Given the description of an element on the screen output the (x, y) to click on. 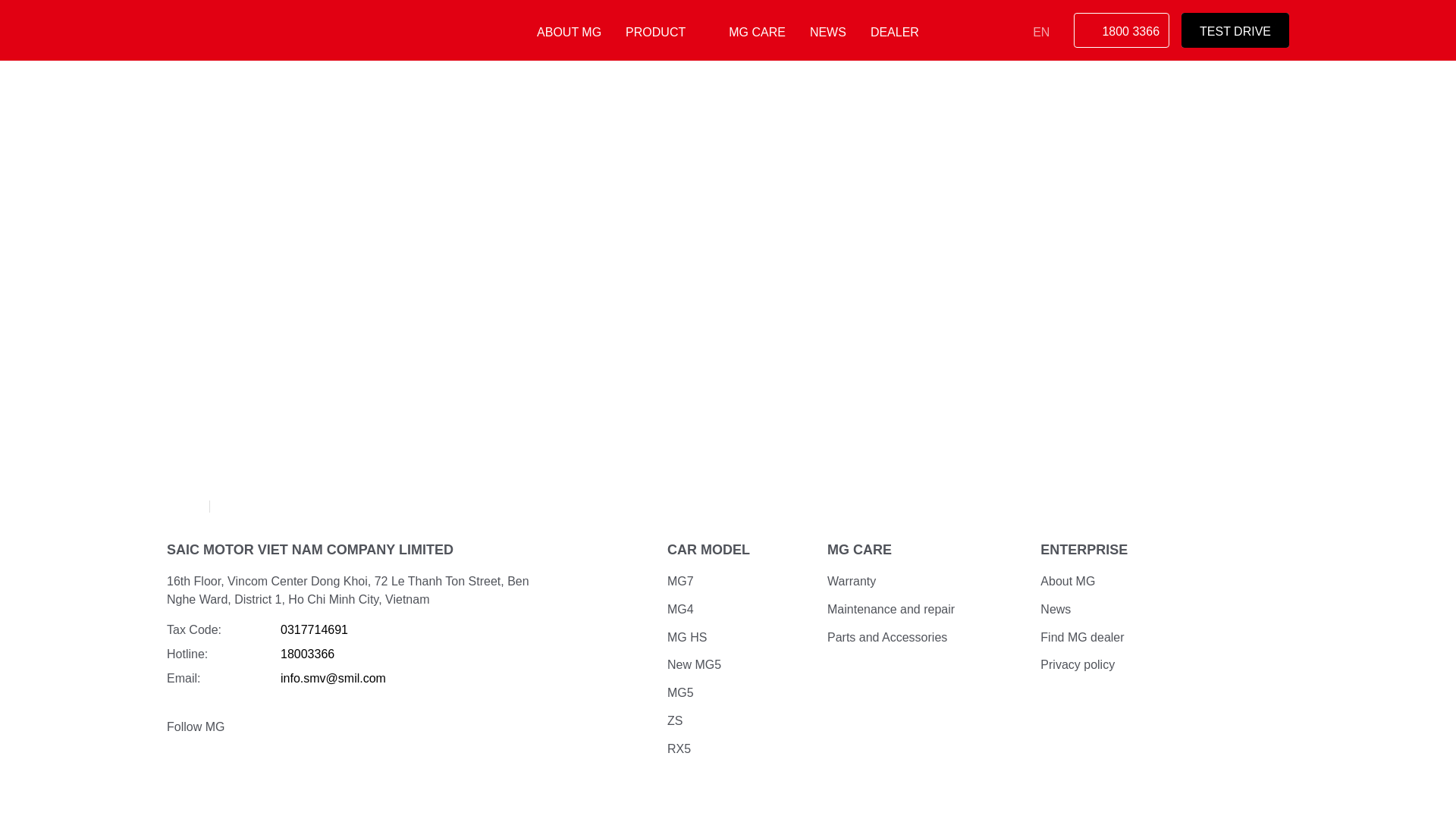
MG AUTO (243, 29)
ABOUT MG (569, 32)
MG CARE (757, 32)
1800 3366 (1121, 30)
EN (1046, 32)
0317714691 (1234, 30)
DEALER (314, 629)
MG7 (894, 32)
NEWS (680, 581)
